Given the description of an element on the screen output the (x, y) to click on. 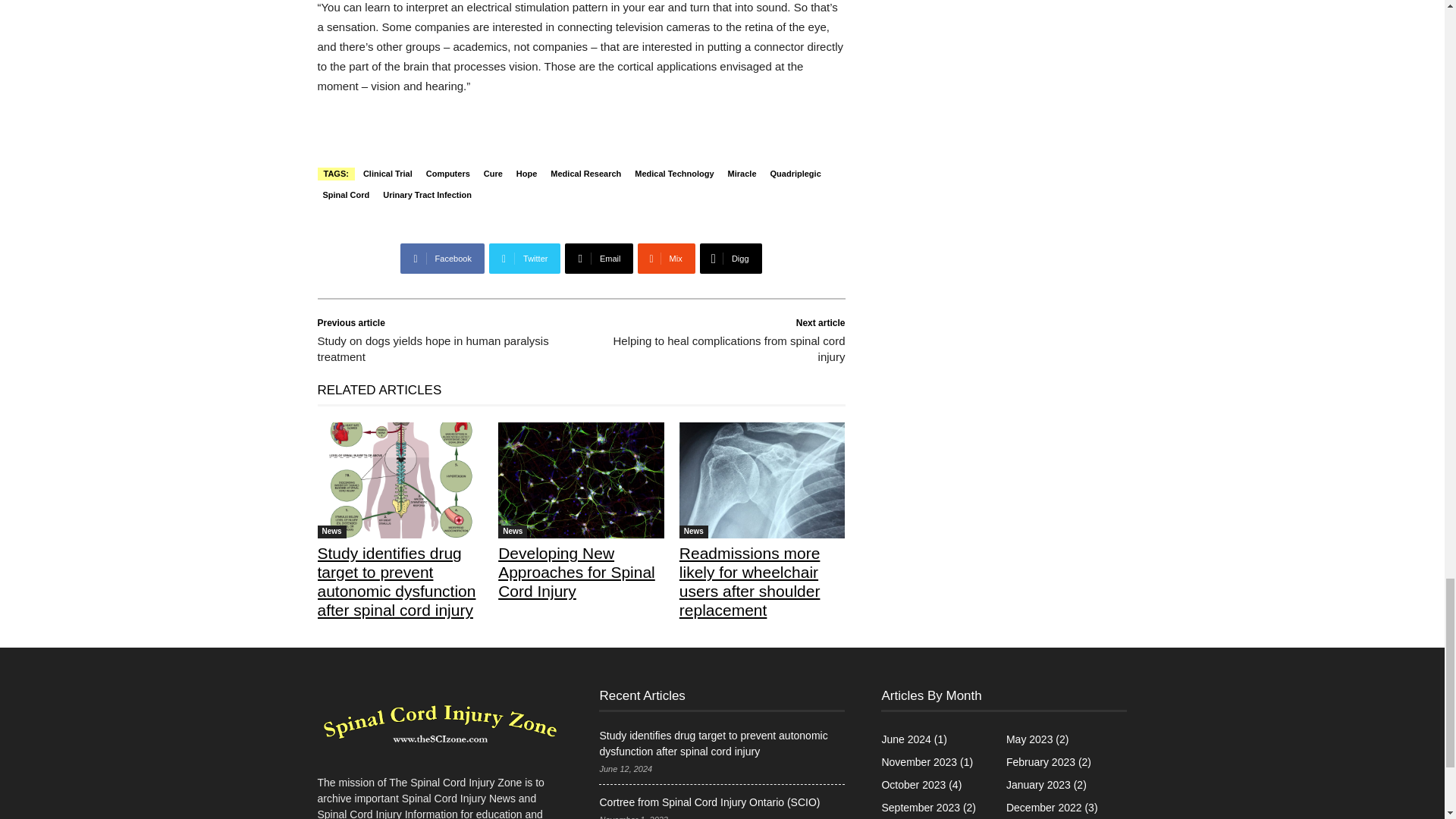
Quadriplegic (796, 173)
Facebook (441, 258)
Urinary Tract Infection (427, 194)
Hope (527, 173)
Medical Research (585, 173)
Miracle (741, 173)
Medical Technology (673, 173)
Spinal Cord (345, 194)
Computers (448, 173)
Facebook (441, 258)
Cure (493, 173)
Clinical Trial (387, 173)
